Given the description of an element on the screen output the (x, y) to click on. 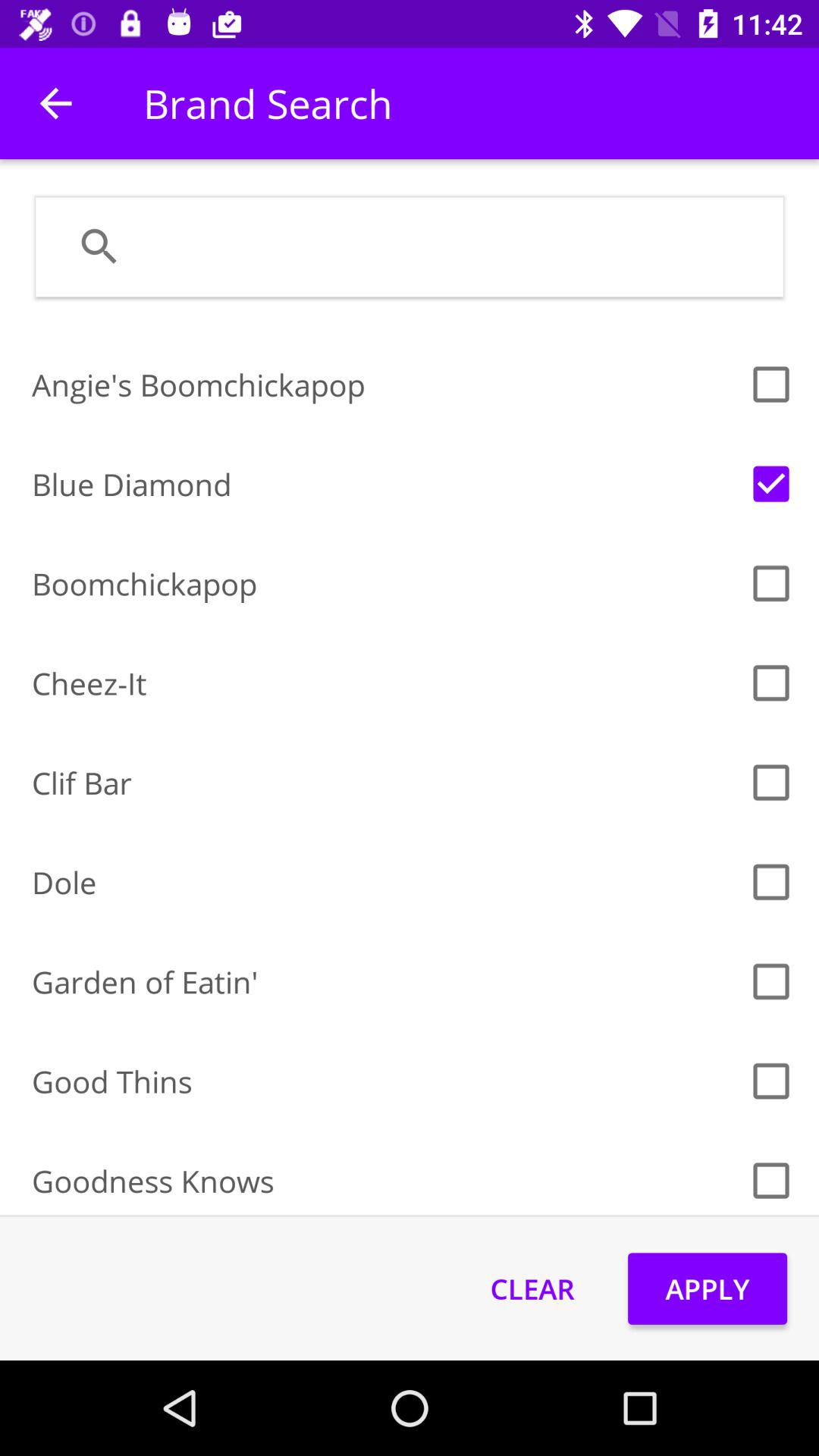
turn off the goodness knows (385, 1180)
